Given the description of an element on the screen output the (x, y) to click on. 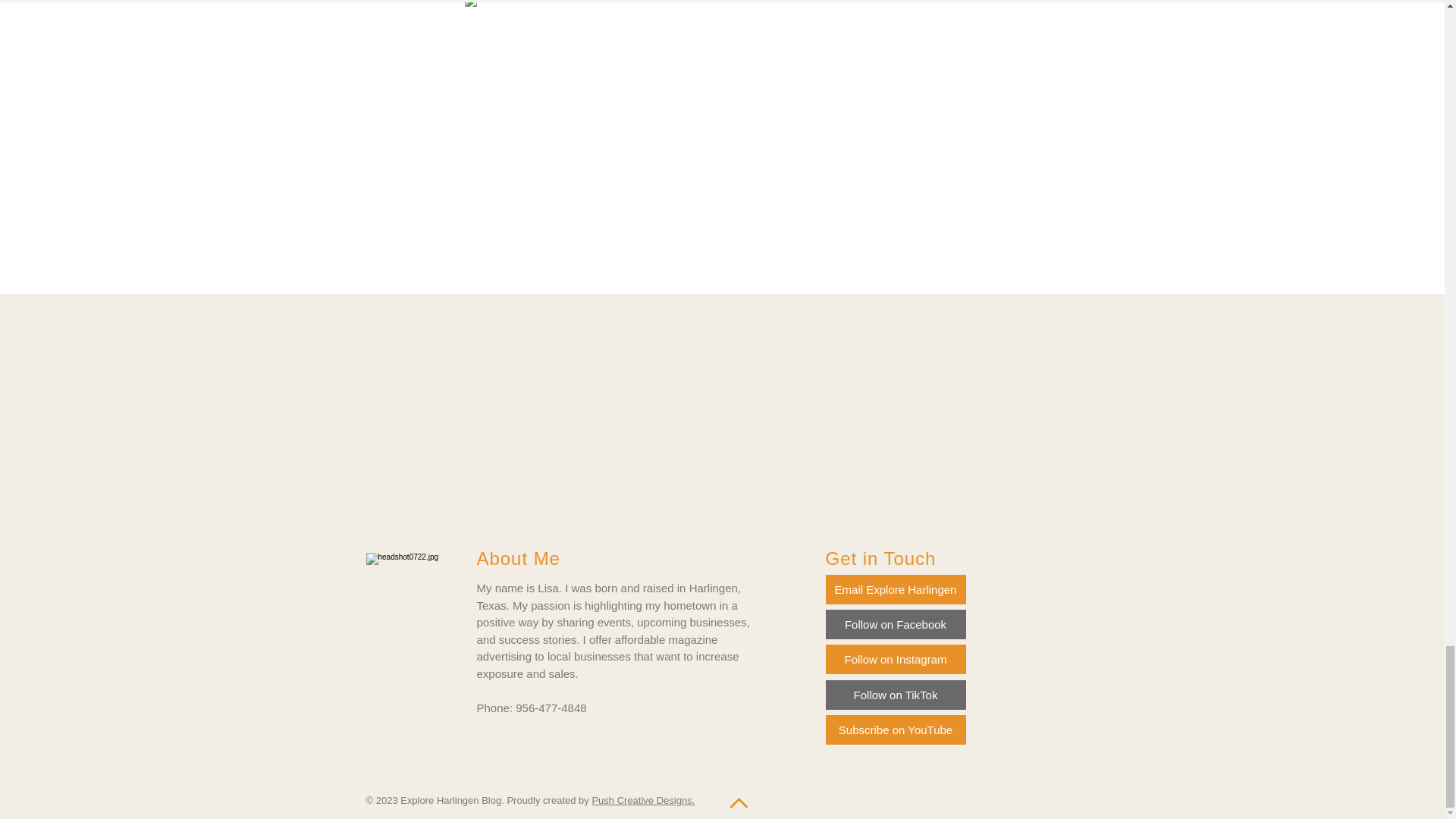
Push Creative Designs. (642, 799)
Email Explore Harlingen (895, 589)
Subscribe on YouTube (895, 729)
Follow on Facebook (895, 624)
Follow on Instagram (895, 659)
Follow on TikTok (895, 695)
